Given the description of an element on the screen output the (x, y) to click on. 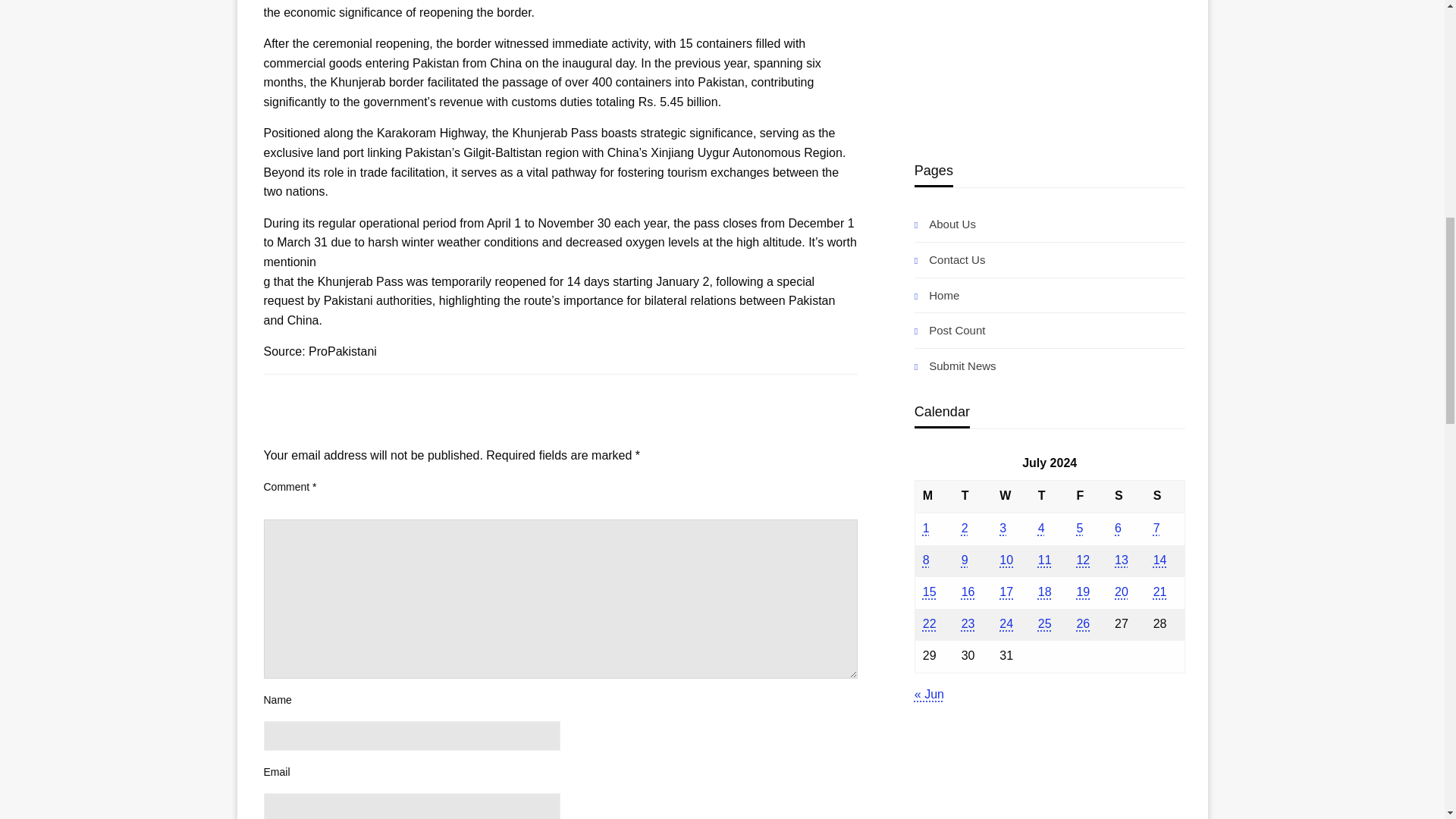
Wednesday (1010, 496)
Friday (1087, 496)
Thursday (1049, 496)
Saturday (1125, 496)
Tuesday (972, 496)
Sunday (1165, 496)
Monday (933, 496)
